Given the description of an element on the screen output the (x, y) to click on. 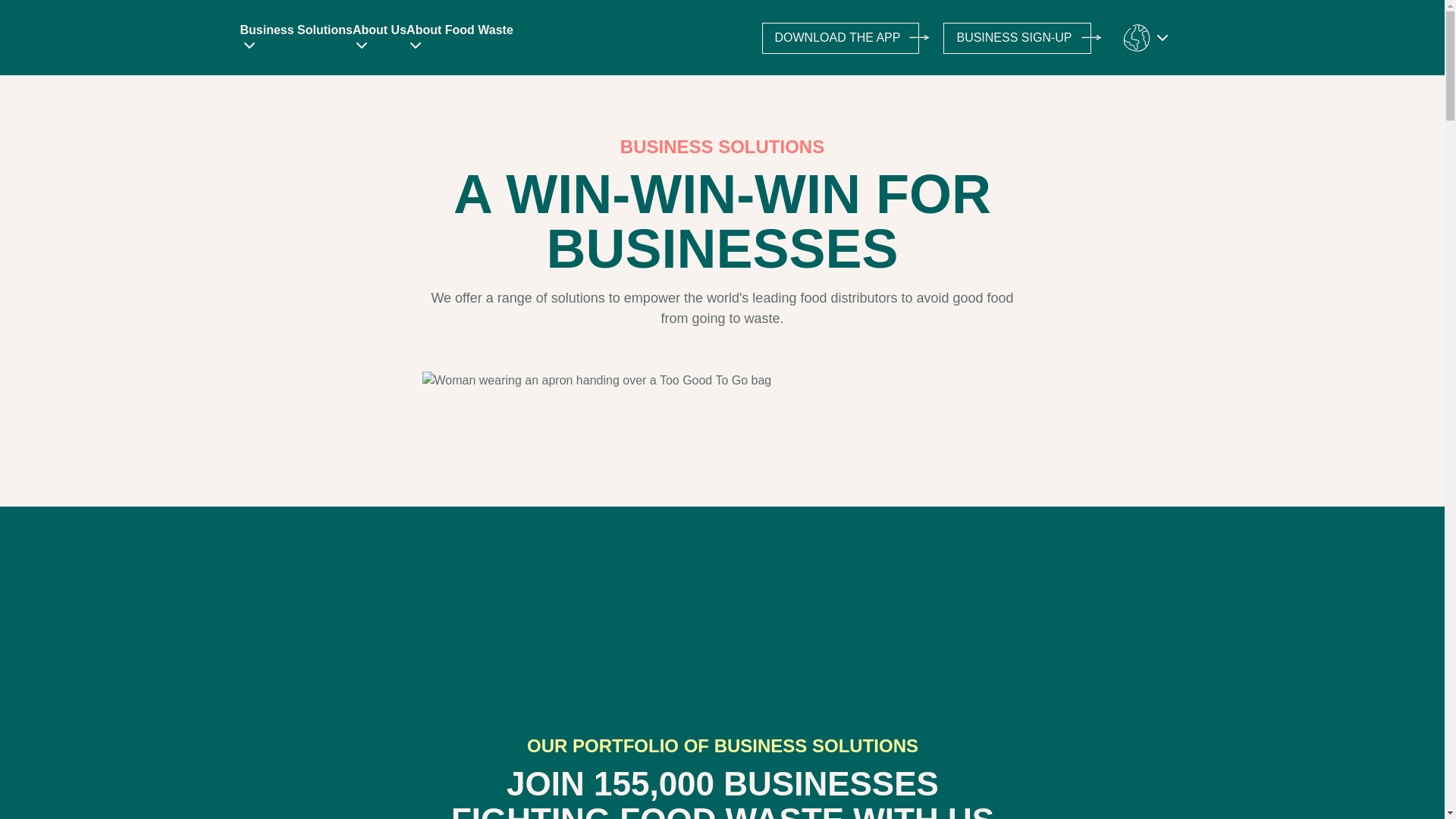
Cookie Policy (528, 740)
About Food Waste (459, 39)
BUSINESS SIGN-UP (1016, 38)
Legal (235, 740)
DOWNLOAD THE APP (839, 38)
Business sign-up (1016, 38)
About Us (379, 39)
Privacy Policy (374, 740)
Business Solutions (296, 39)
